Given the description of an element on the screen output the (x, y) to click on. 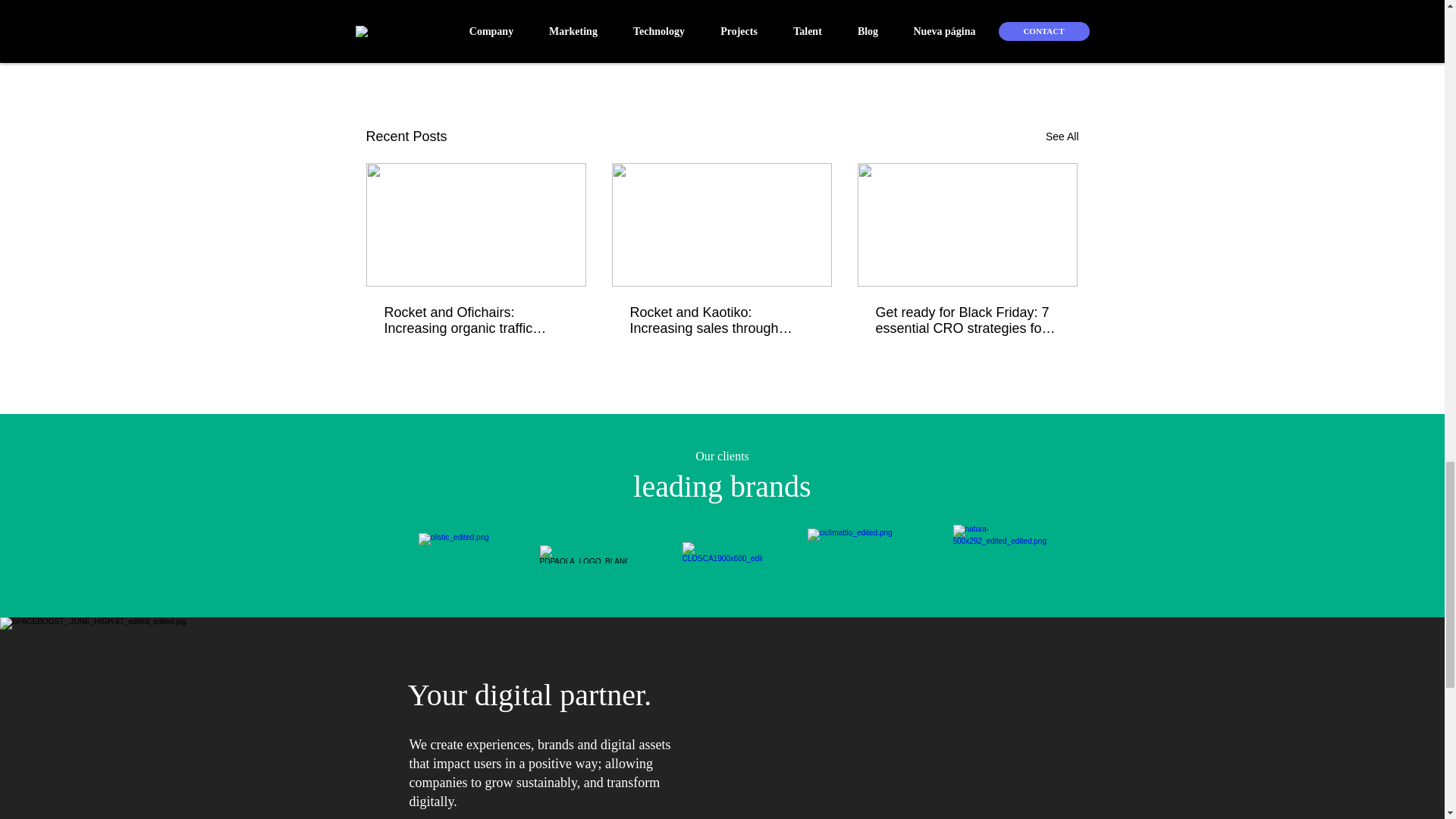
Rocket and Kaotiko: Increasing sales through social ads (720, 320)
See All (1061, 137)
